Given the description of an element on the screen output the (x, y) to click on. 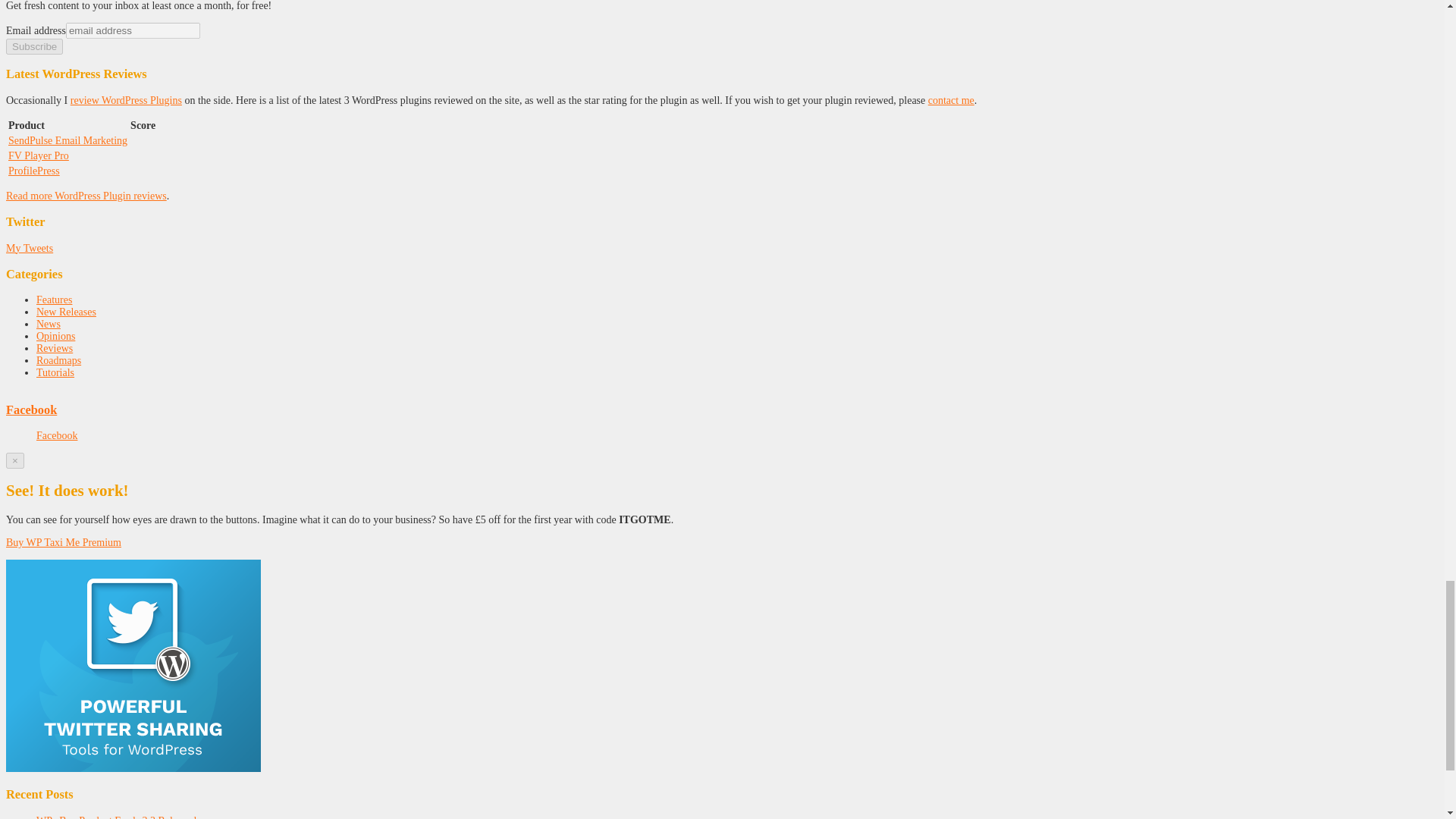
Subscribe (33, 46)
